Given the description of an element on the screen output the (x, y) to click on. 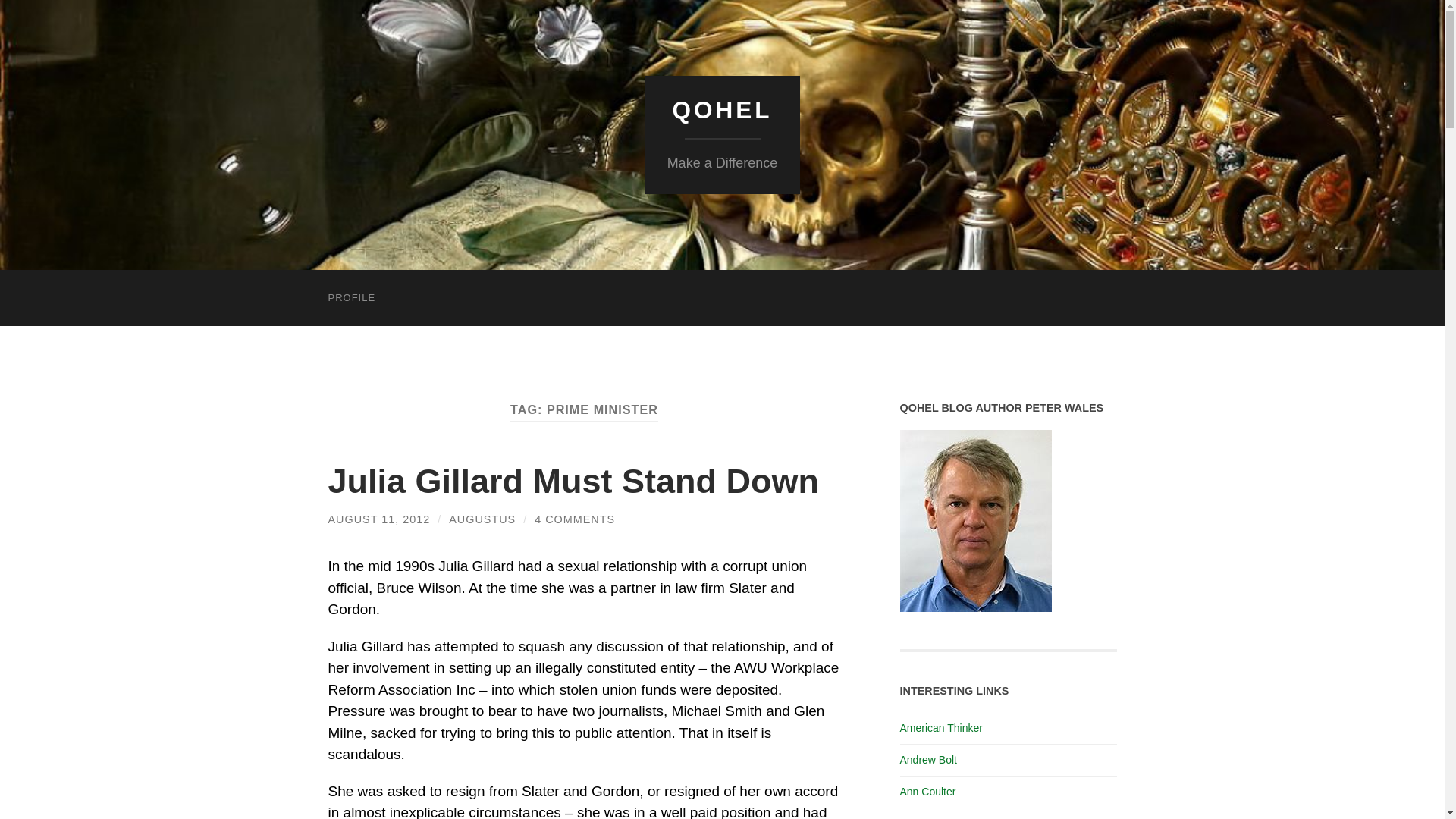
Julia Gillard Must Stand Down (572, 480)
Arts and Letters Daily (950, 818)
PROFILE (351, 297)
Ann Coulter (927, 791)
American Thinker (940, 727)
AUGUST 11, 2012 (378, 519)
AUGUSTUS (481, 519)
Andrew Bolt (927, 759)
4 COMMENTS (574, 519)
